Given the description of an element on the screen output the (x, y) to click on. 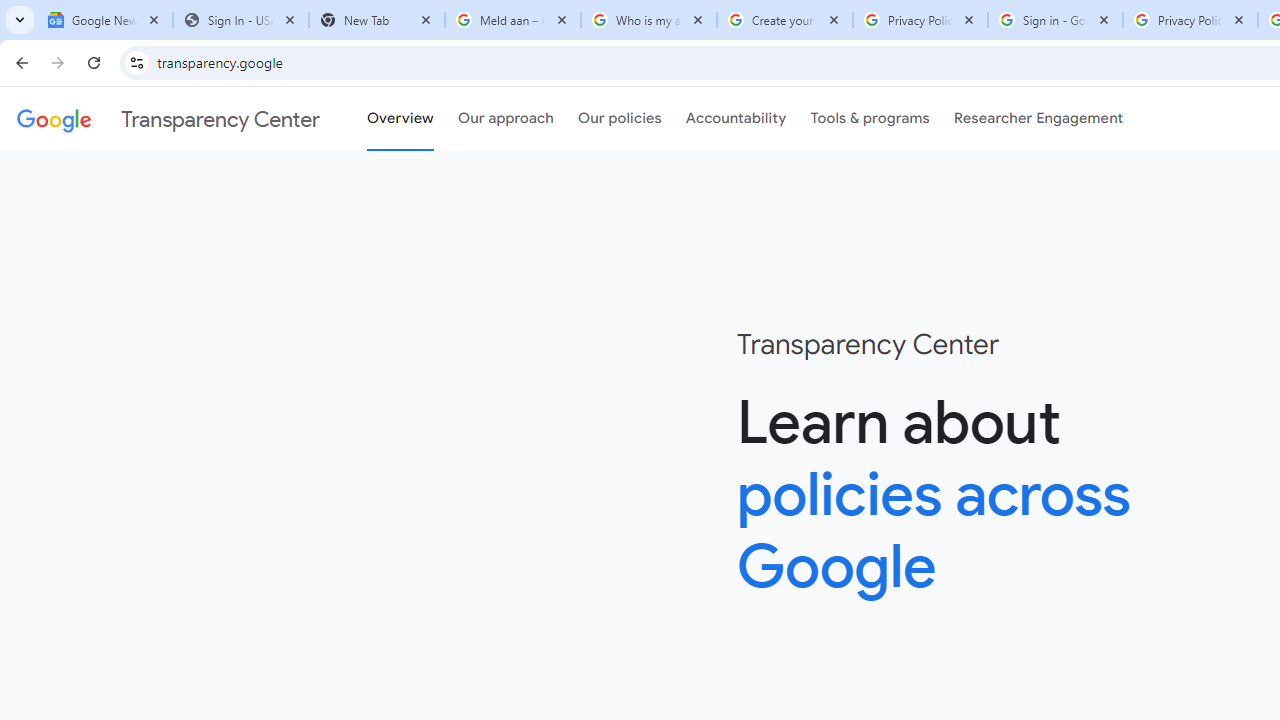
Researcher Engagement (1038, 119)
Our policies (619, 119)
New Tab (376, 20)
Overview (399, 119)
Create your Google Account (784, 20)
Accountability (735, 119)
Who is my administrator? - Google Account Help (648, 20)
